Given the description of an element on the screen output the (x, y) to click on. 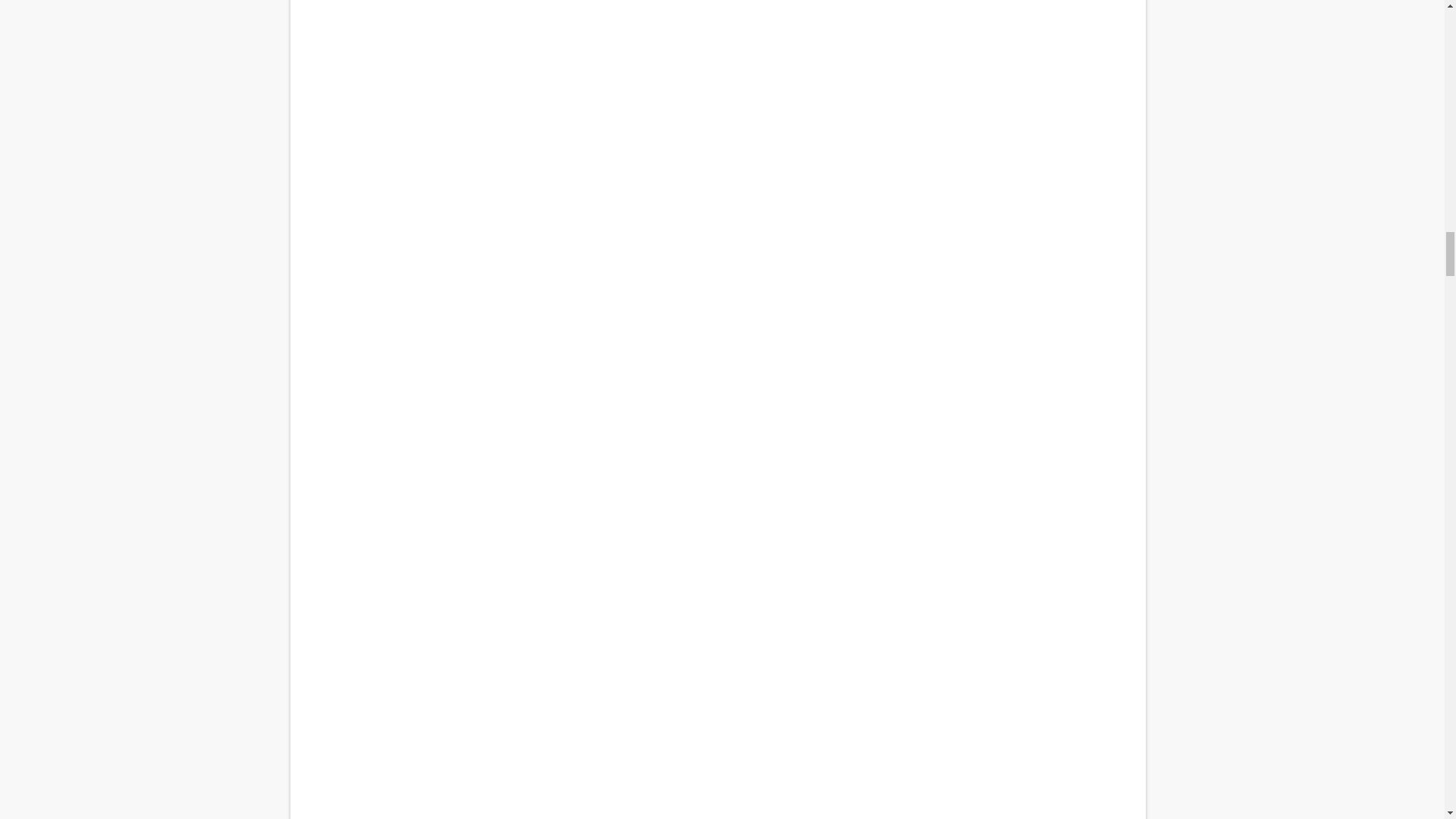
form of verbs (717, 612)
